Given the description of an element on the screen output the (x, y) to click on. 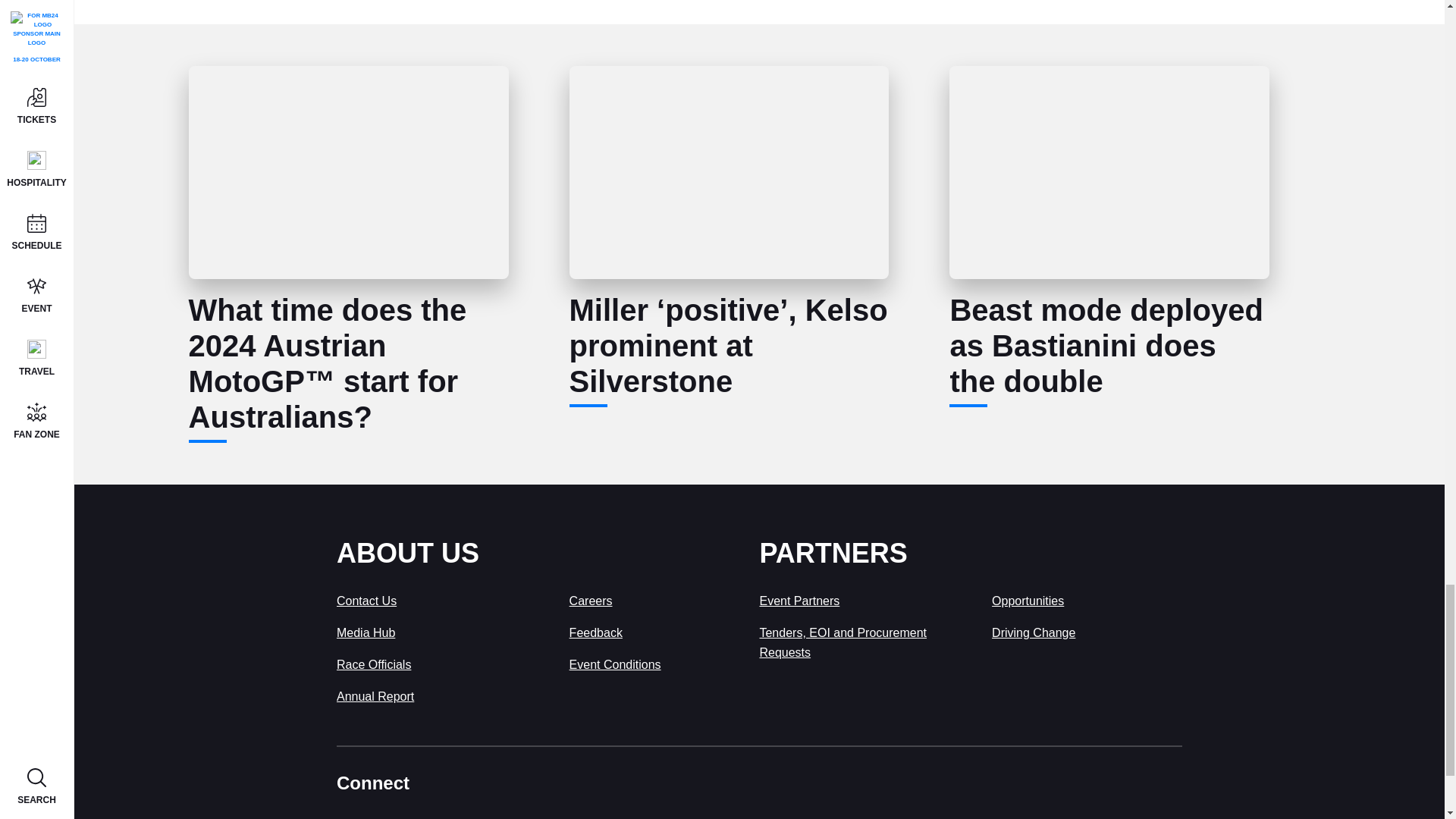
Media Hub (365, 632)
Tenders, EOI and Procurement Requests (842, 642)
Feedback (596, 632)
Driving Change (1033, 632)
Event Partners (799, 600)
Annual Report (374, 696)
Race Officials (373, 664)
Event Conditions (615, 664)
Careers (590, 600)
Opportunities (1027, 600)
